Given the description of an element on the screen output the (x, y) to click on. 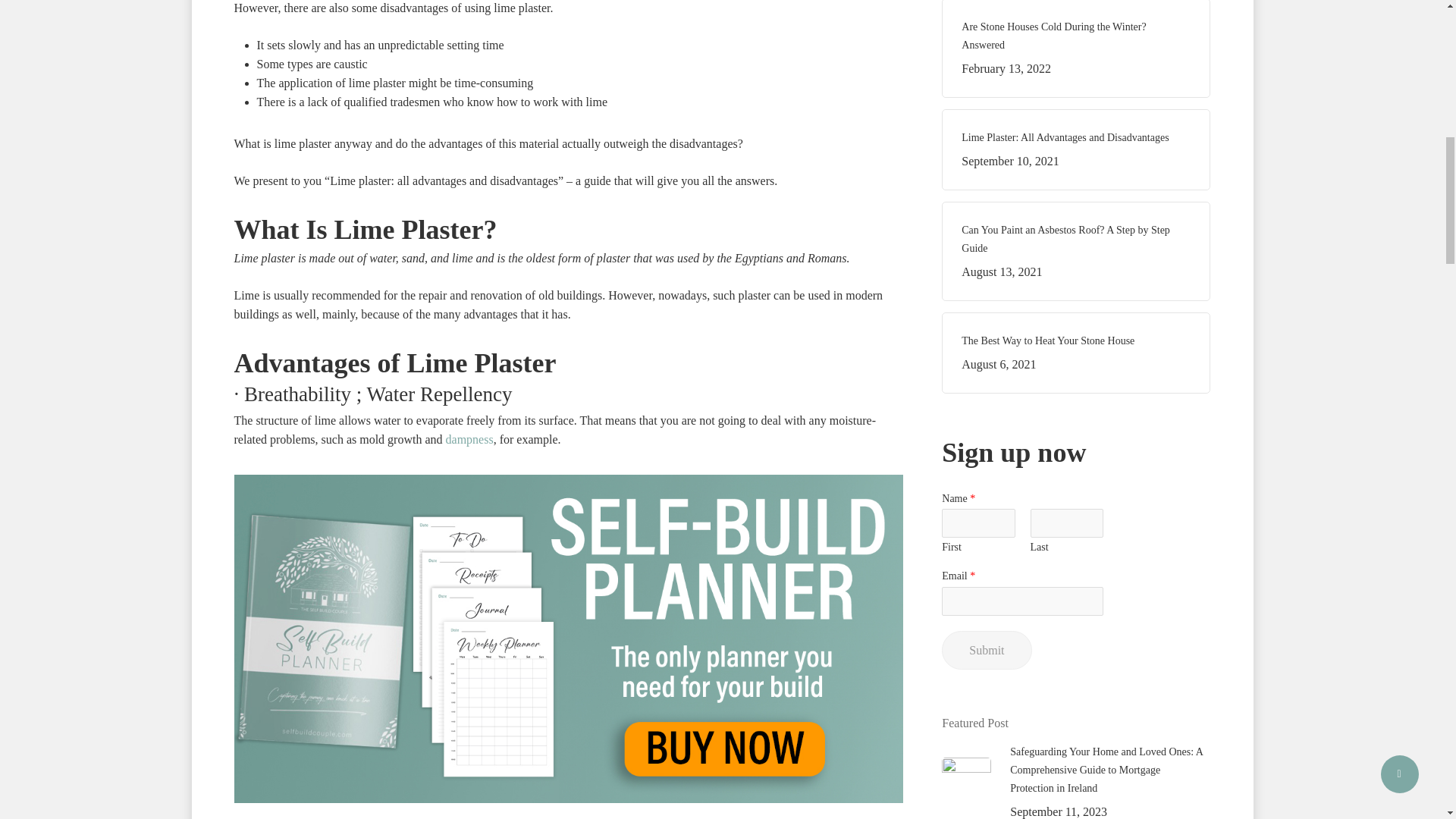
Submit (1075, 352)
dampness (986, 649)
